Given the description of an element on the screen output the (x, y) to click on. 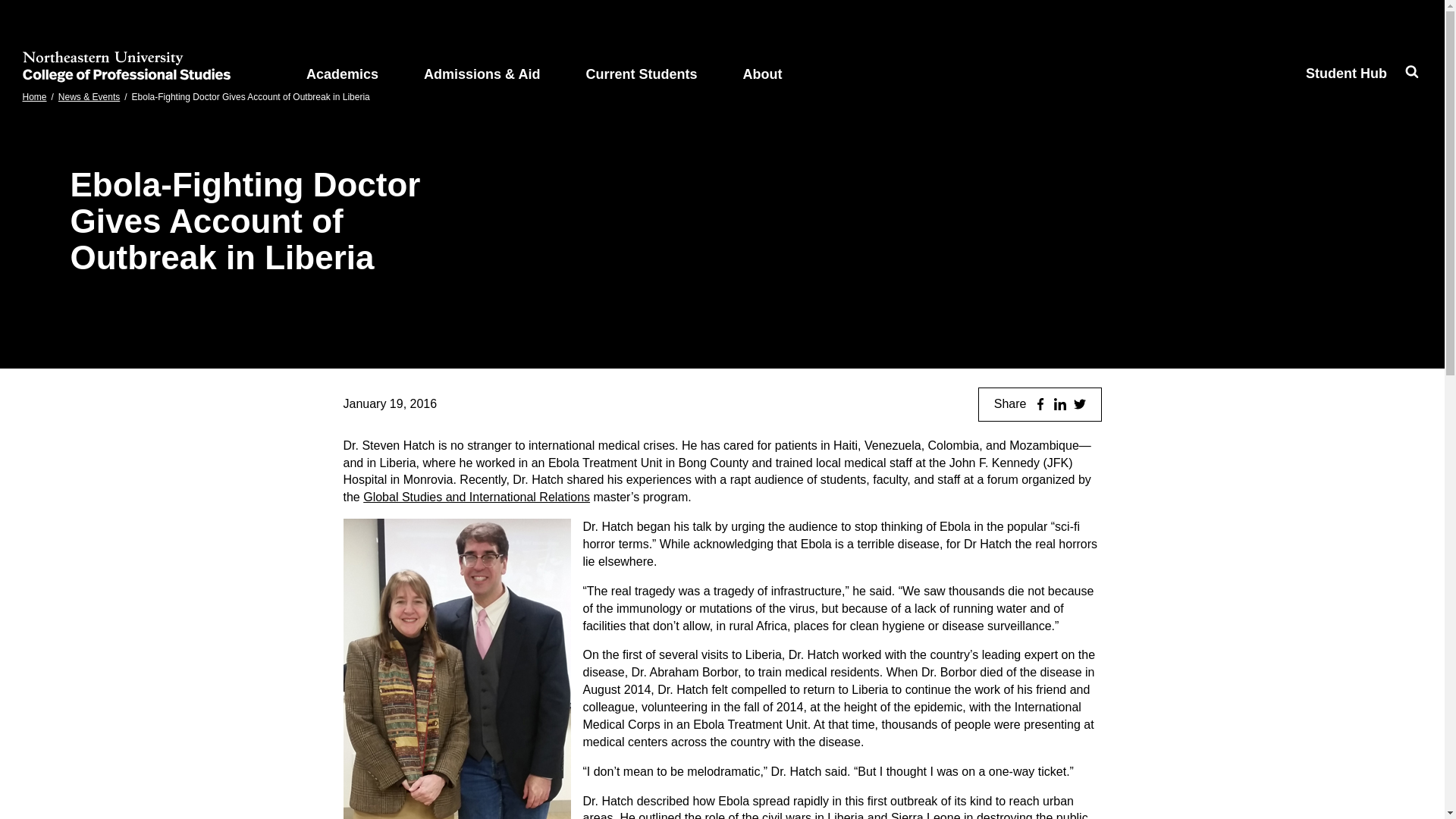
Current Students (640, 67)
Academics (342, 67)
Northeastern University College of Professional Studies (126, 66)
